Given the description of an element on the screen output the (x, y) to click on. 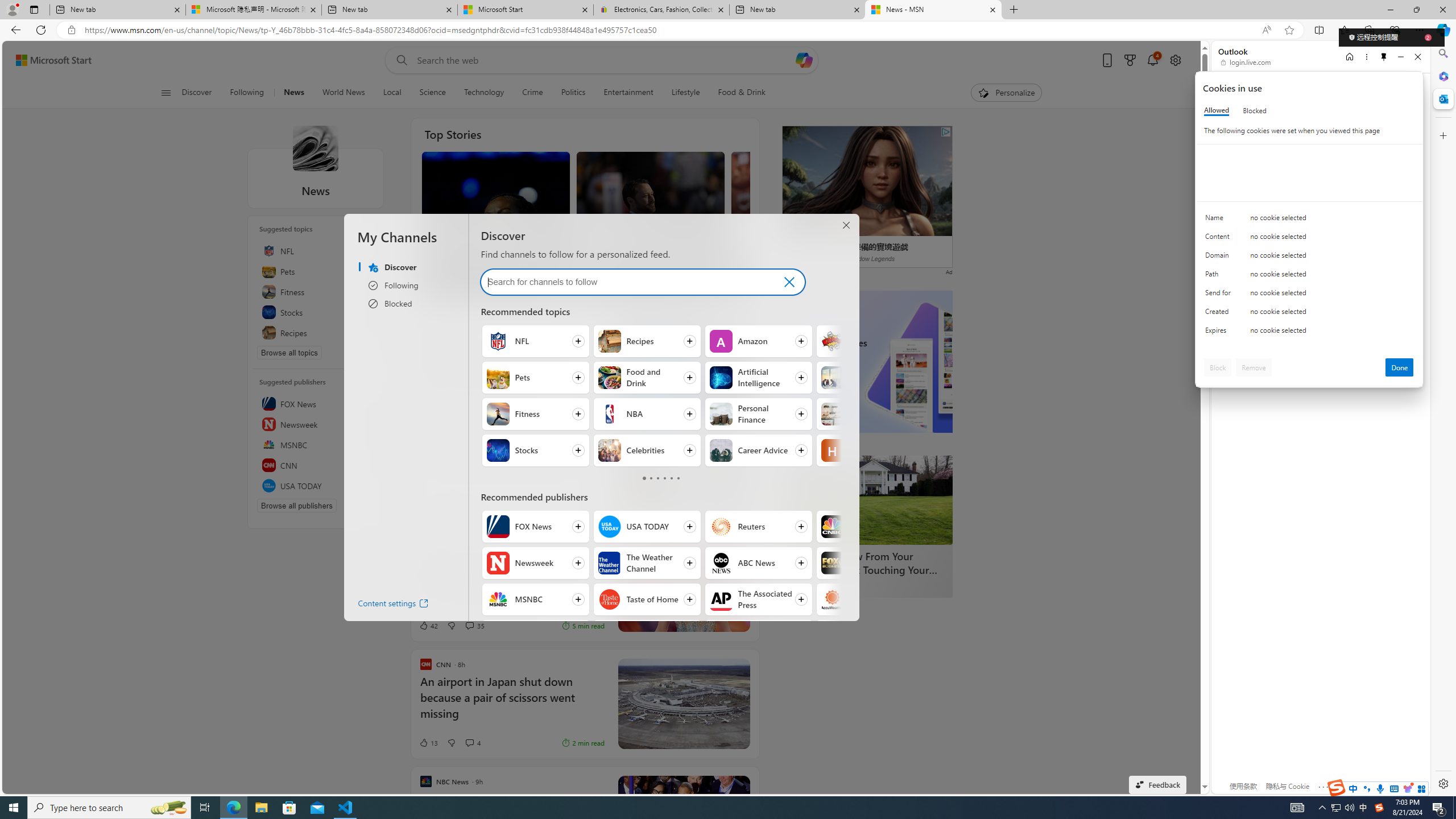
News - MSN (933, 9)
View comments 4 Comment (469, 741)
Restore (1416, 9)
Stocks (497, 449)
Minimize (1401, 56)
Tab actions menu (33, 9)
Search for channels to follow (625, 281)
Pets (497, 377)
Name (1219, 220)
Newsweek (497, 563)
Comics (832, 341)
no cookie selected (1331, 332)
View comments 35 Comment (474, 625)
Follow Taste of Home (646, 599)
